Given the description of an element on the screen output the (x, y) to click on. 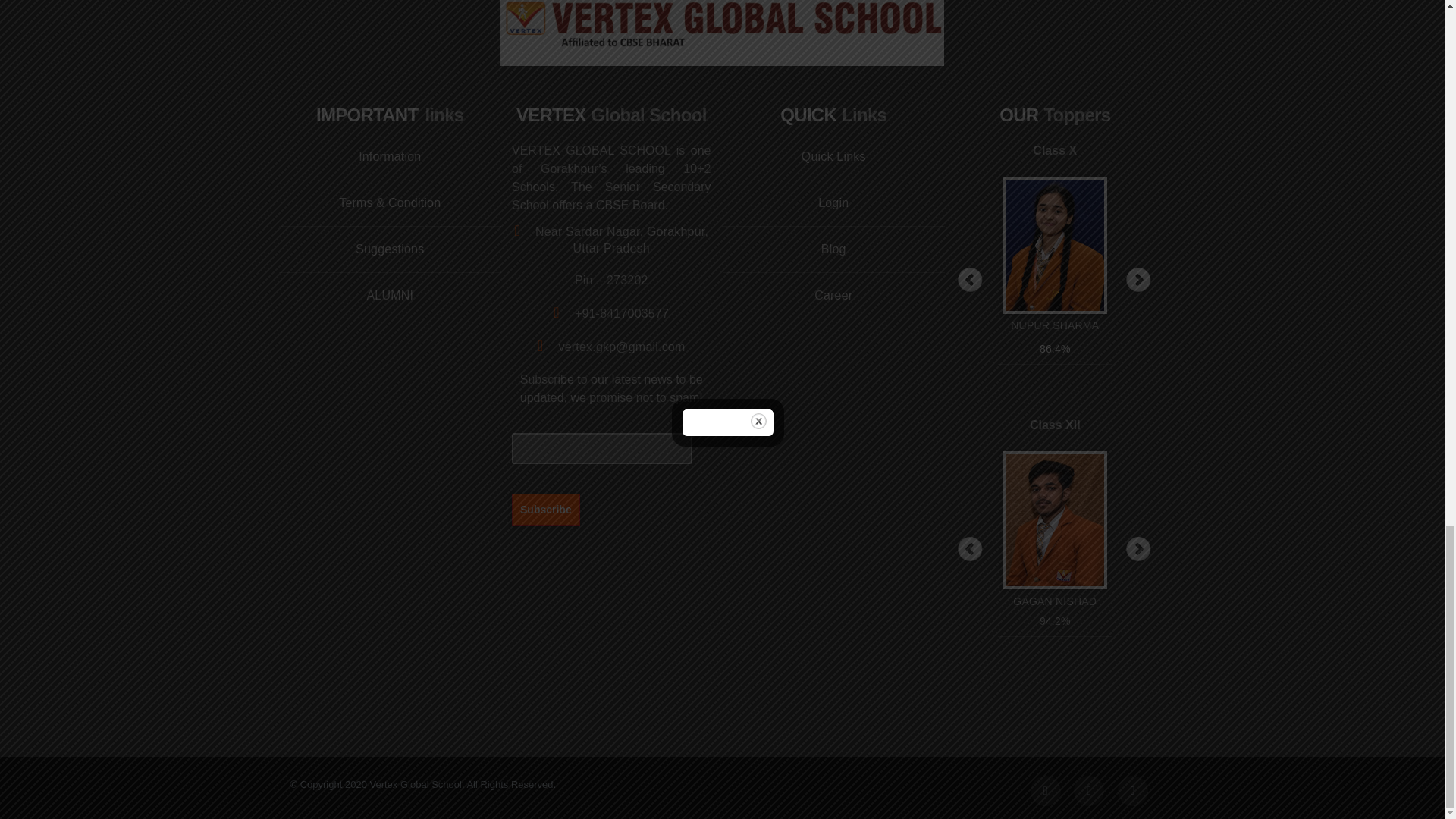
Subscribe (545, 508)
